Given the description of an element on the screen output the (x, y) to click on. 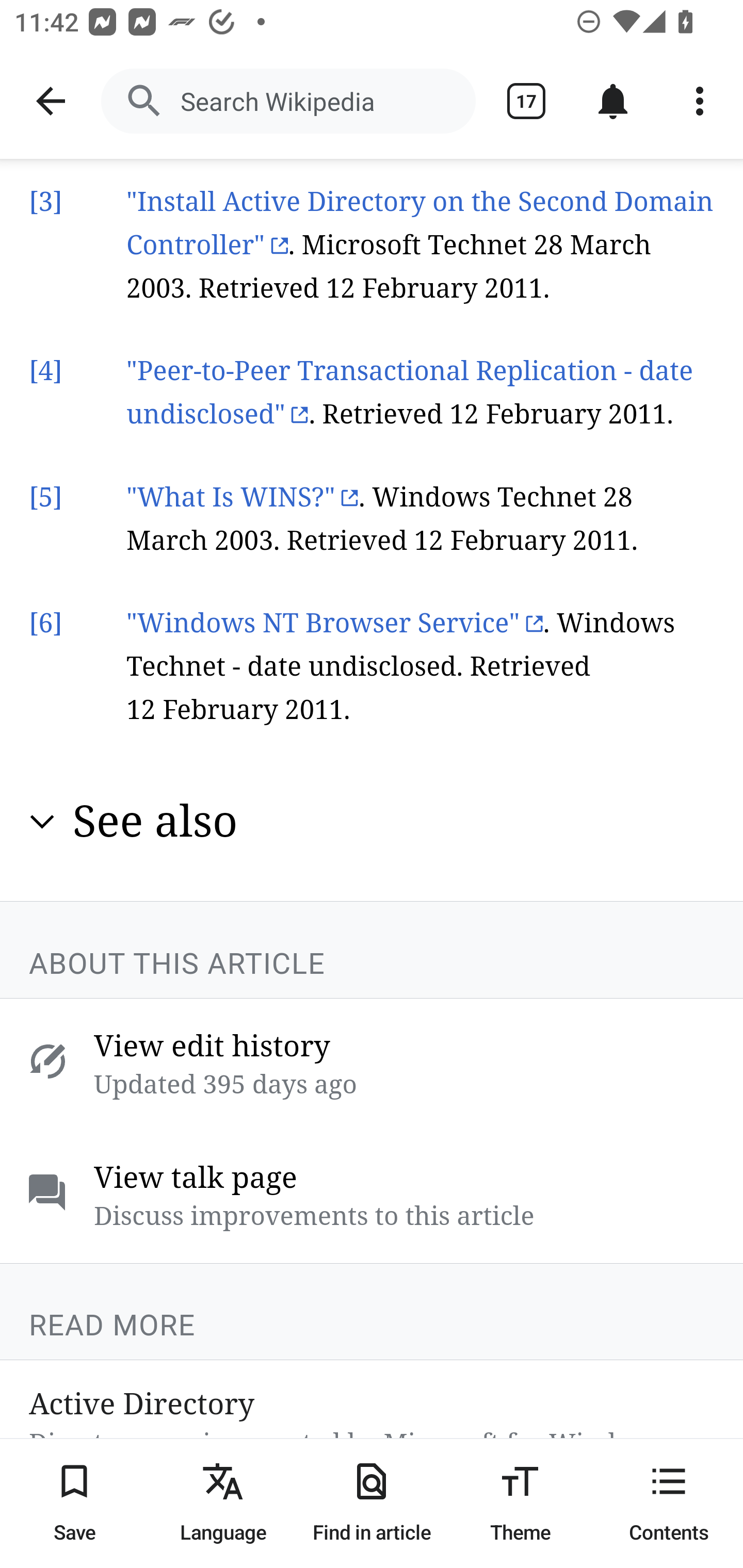
Show tabs 17 (525, 100)
Notifications (612, 100)
Navigate up (50, 101)
More options (699, 101)
Search Wikipedia (288, 100)
[3] (45, 203)
[4] (45, 373)
[5] (45, 497)
"What Is WINS?" (242, 497)
[6] (45, 624)
"Windows NT Browser Service" (334, 624)
Expand section See also (372, 821)
Expand section (41, 823)
Save (74, 1502)
Language (222, 1502)
Find in article (371, 1502)
Theme (519, 1502)
Contents (668, 1502)
